Given the description of an element on the screen output the (x, y) to click on. 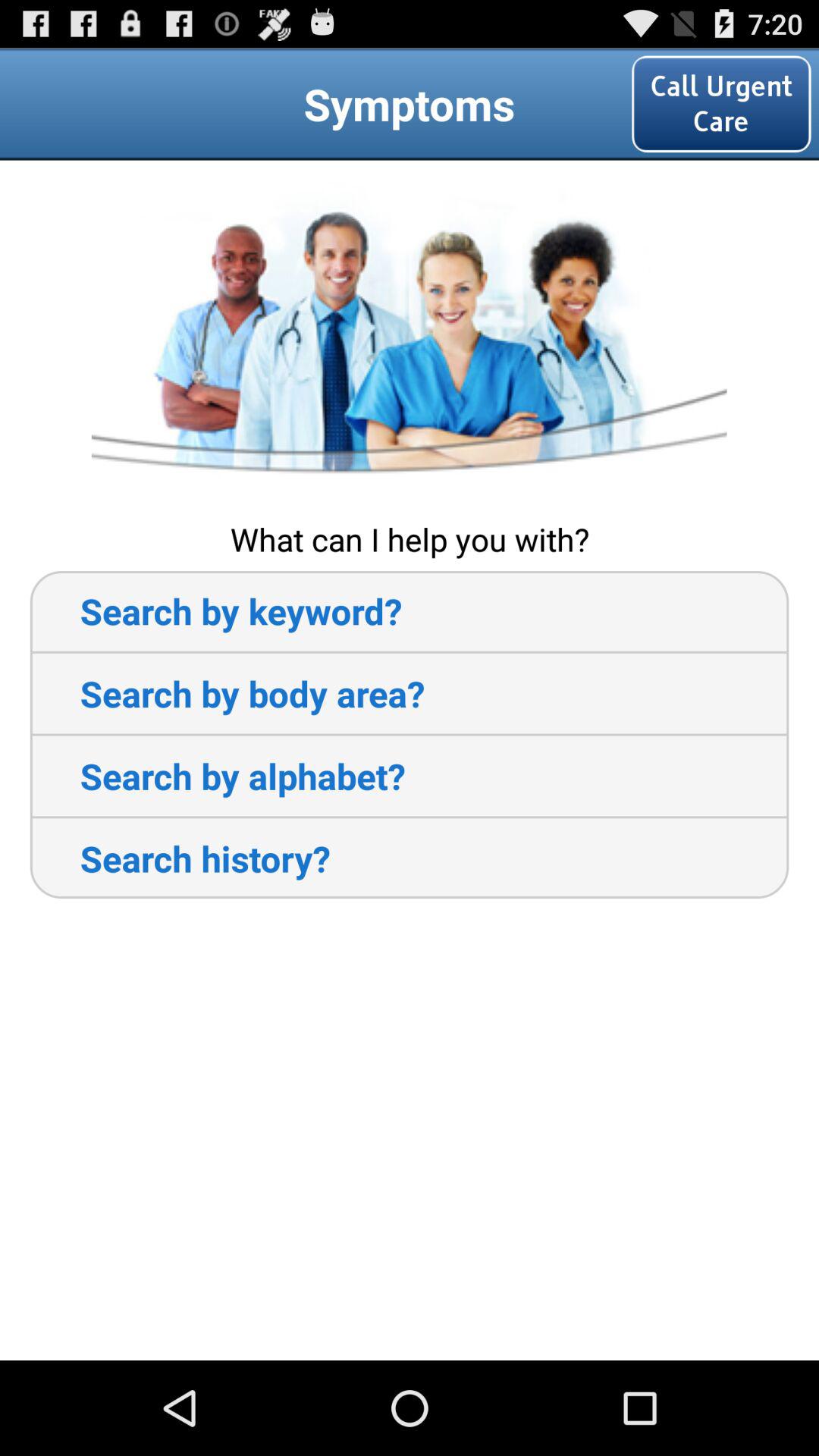
choose icon above the what can i app (408, 338)
